Given the description of an element on the screen output the (x, y) to click on. 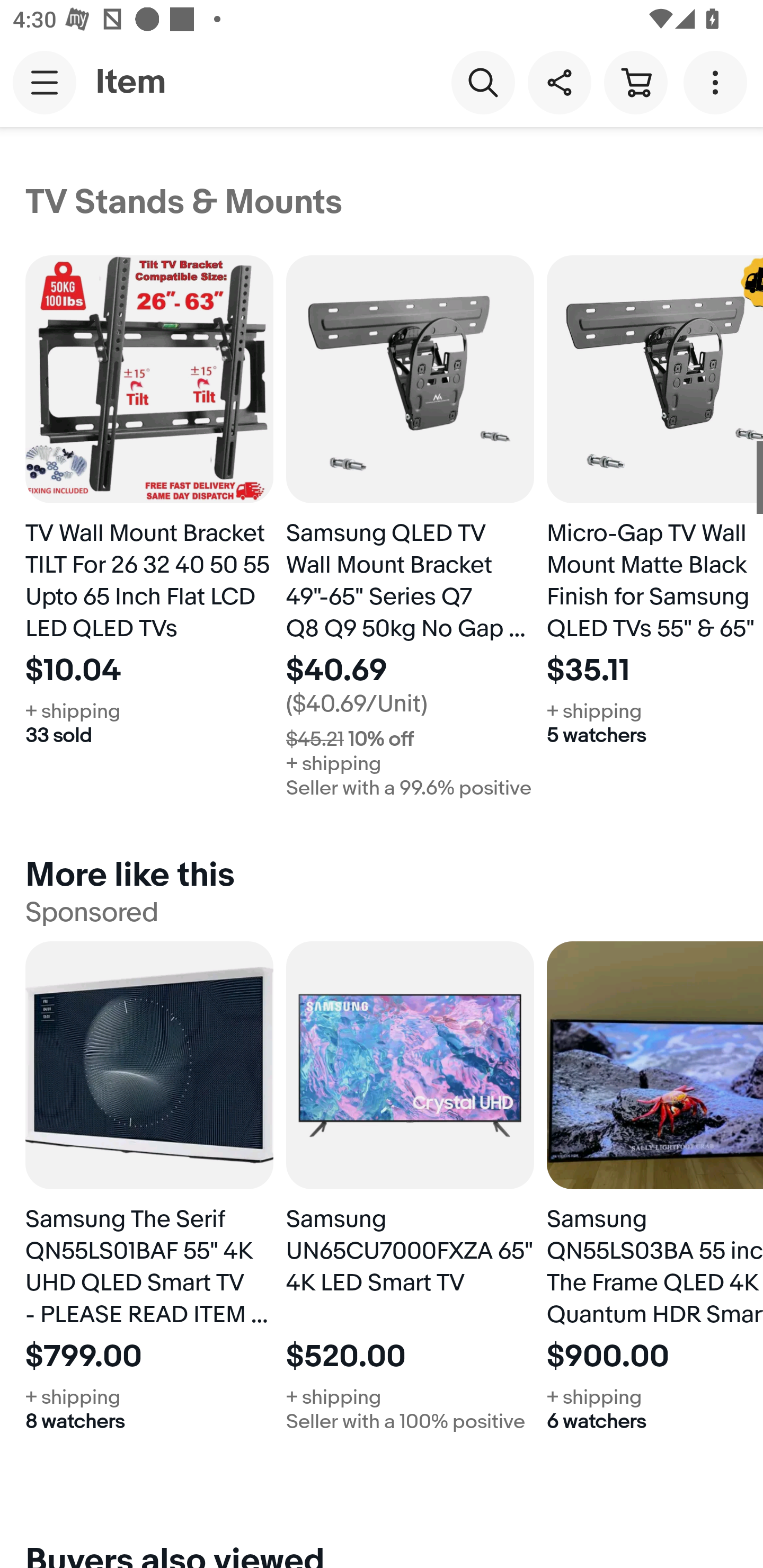
Main navigation, open (44, 82)
Search (482, 81)
Share this item (559, 81)
Cart button shopping cart (635, 81)
More options (718, 81)
